Given the description of an element on the screen output the (x, y) to click on. 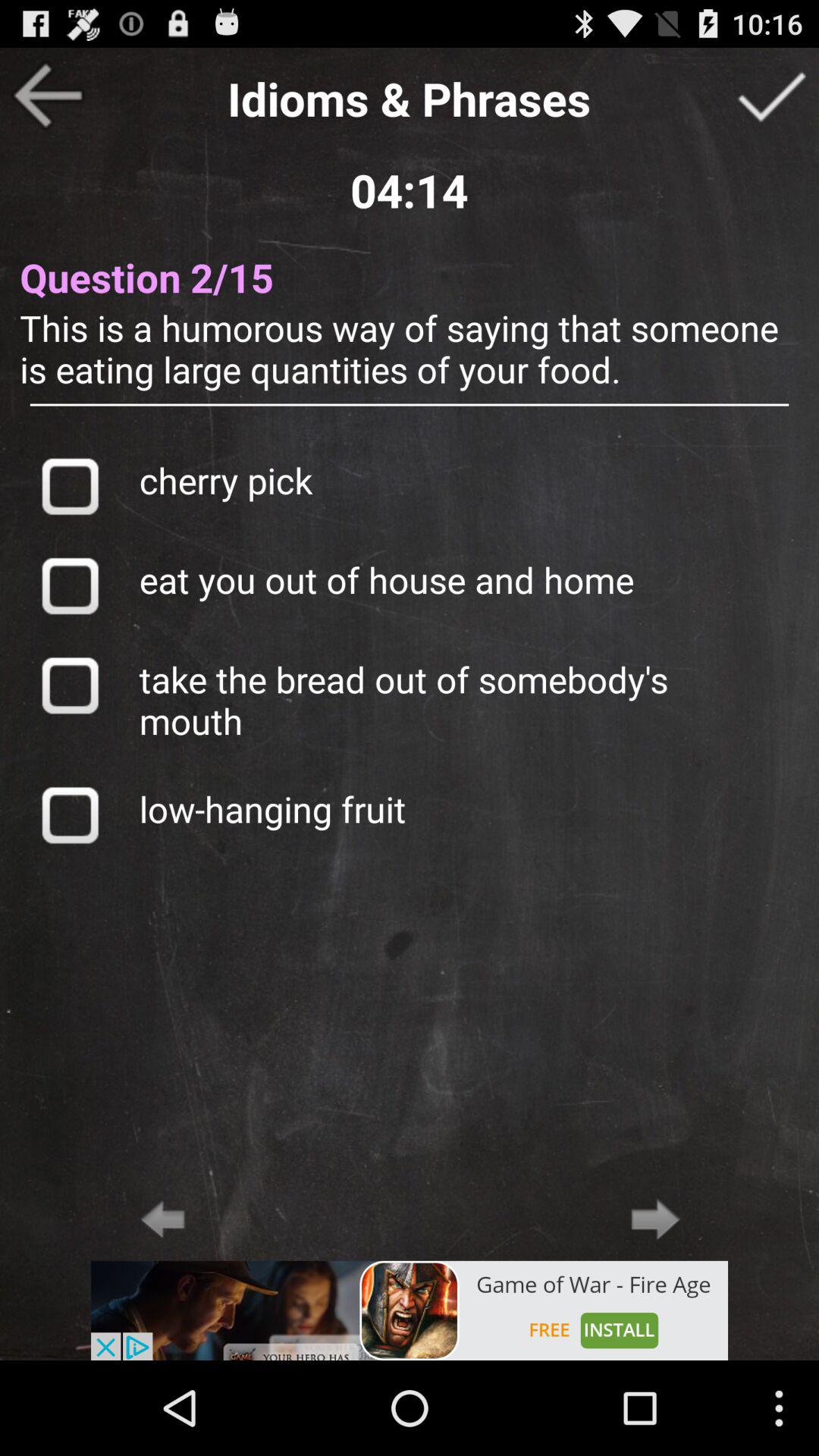
go back (47, 95)
